Given the description of an element on the screen output the (x, y) to click on. 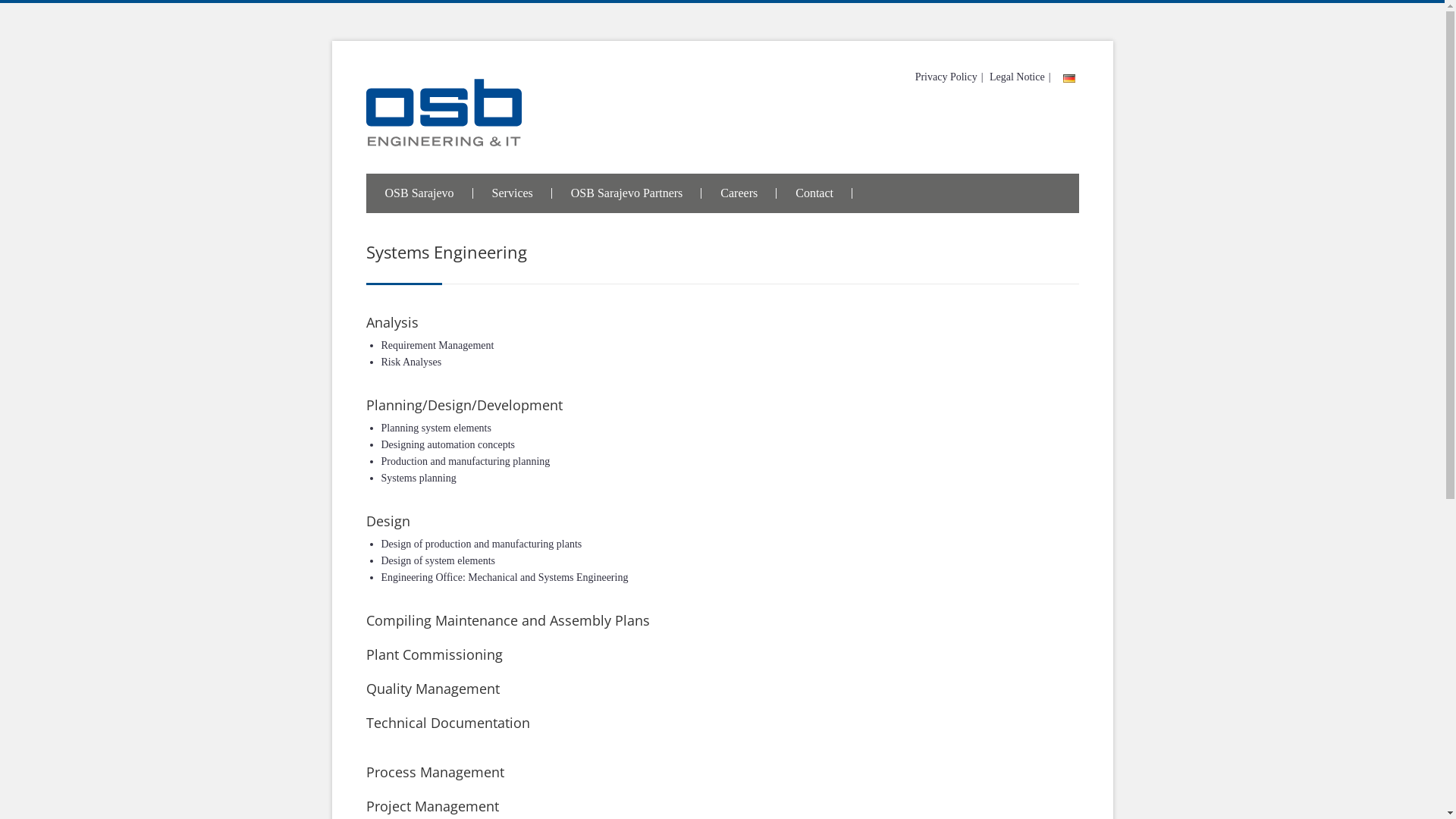
  Element type: text (1066, 76)
Services Element type: text (512, 193)
OSB AG Element type: text (721, 122)
Privacy Policy Element type: text (946, 76)
OSB Sarajevo Element type: text (418, 193)
Legal Notice Element type: text (1016, 76)
Careers Element type: text (738, 193)
Contact Element type: text (814, 193)
OSB Sarajevo Partners Element type: text (627, 193)
